Given the description of an element on the screen output the (x, y) to click on. 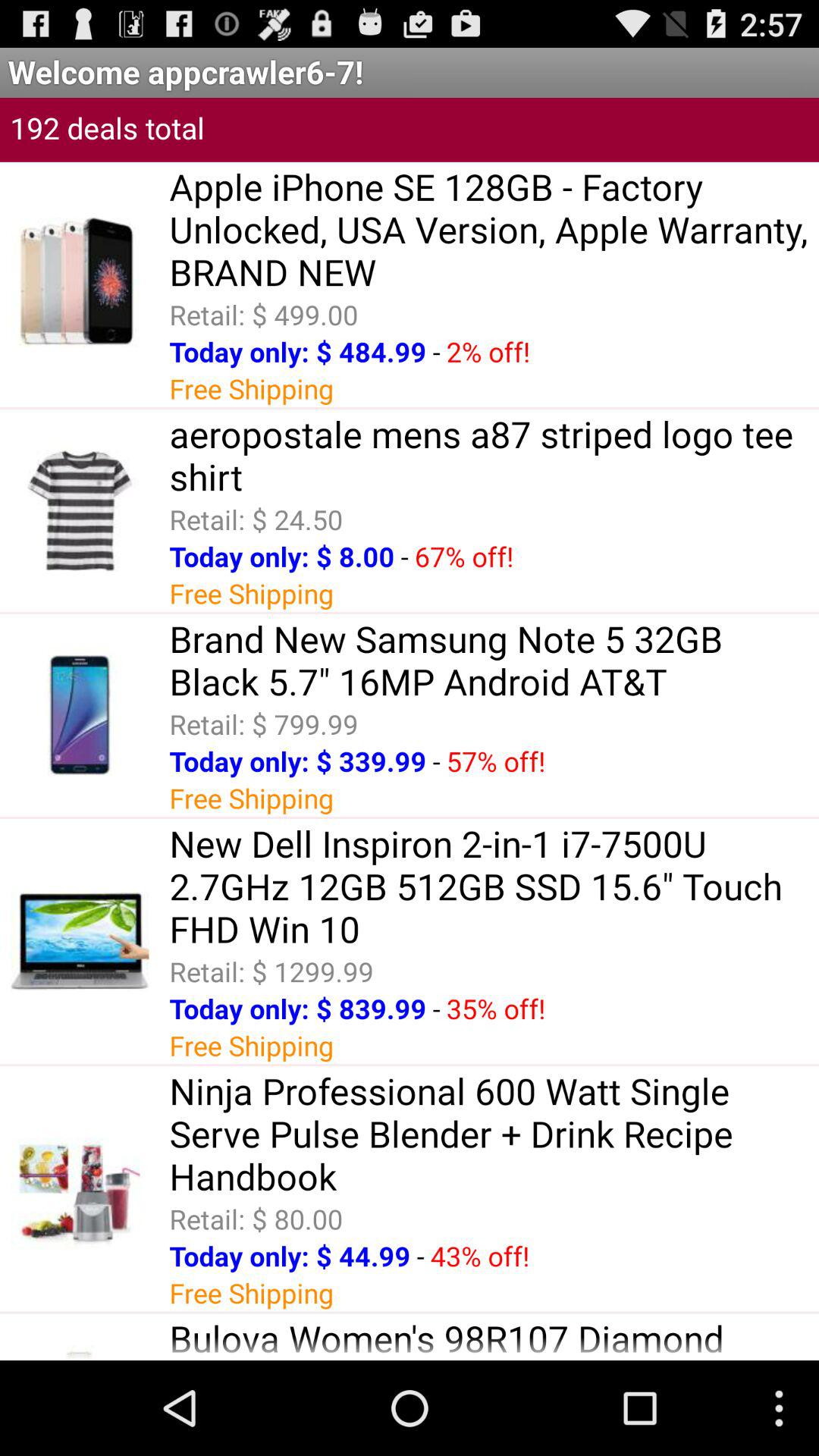
swipe to aeropostale mens a87 (494, 455)
